Given the description of an element on the screen output the (x, y) to click on. 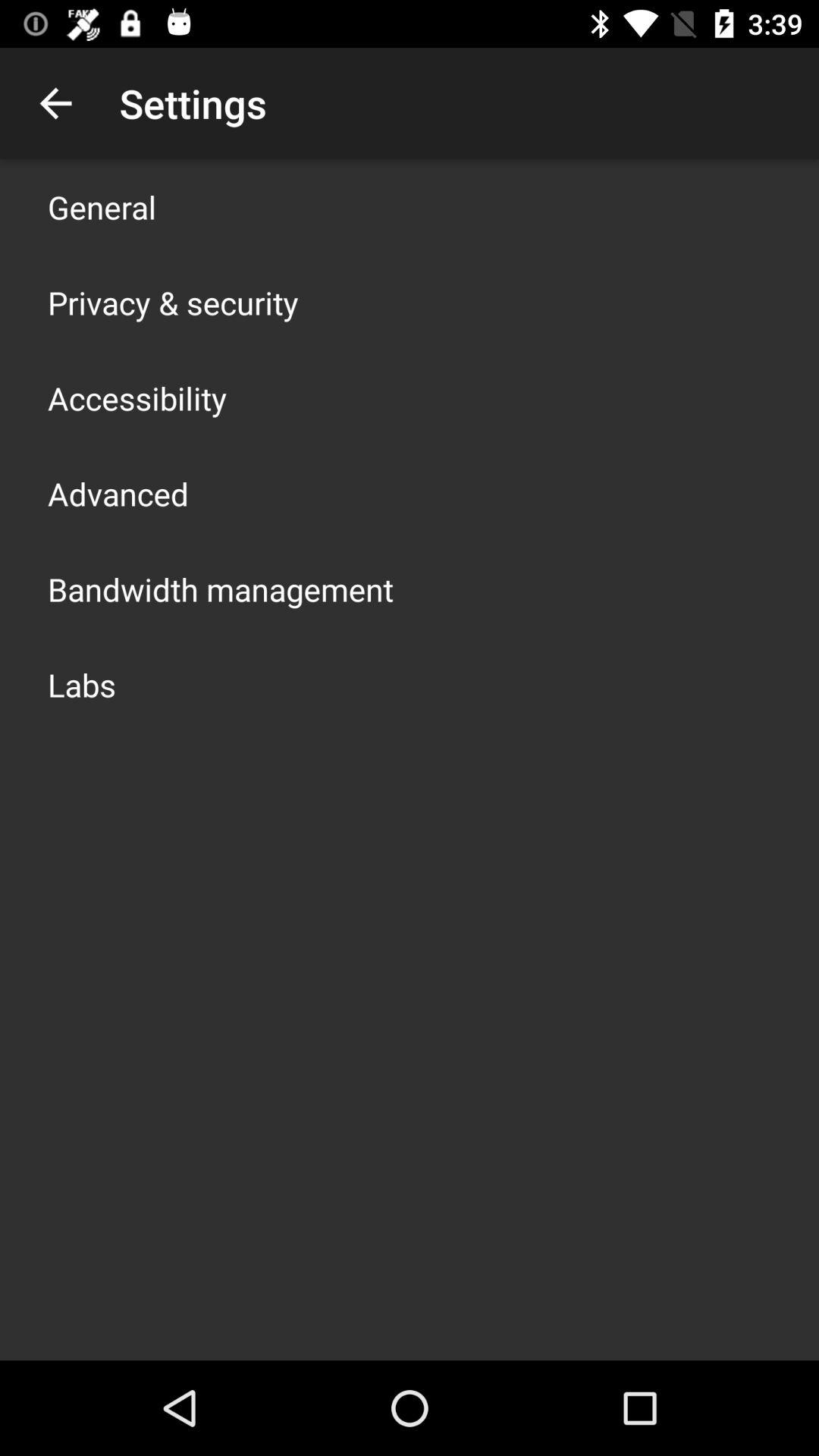
choose icon to the left of settings item (55, 103)
